Given the description of an element on the screen output the (x, y) to click on. 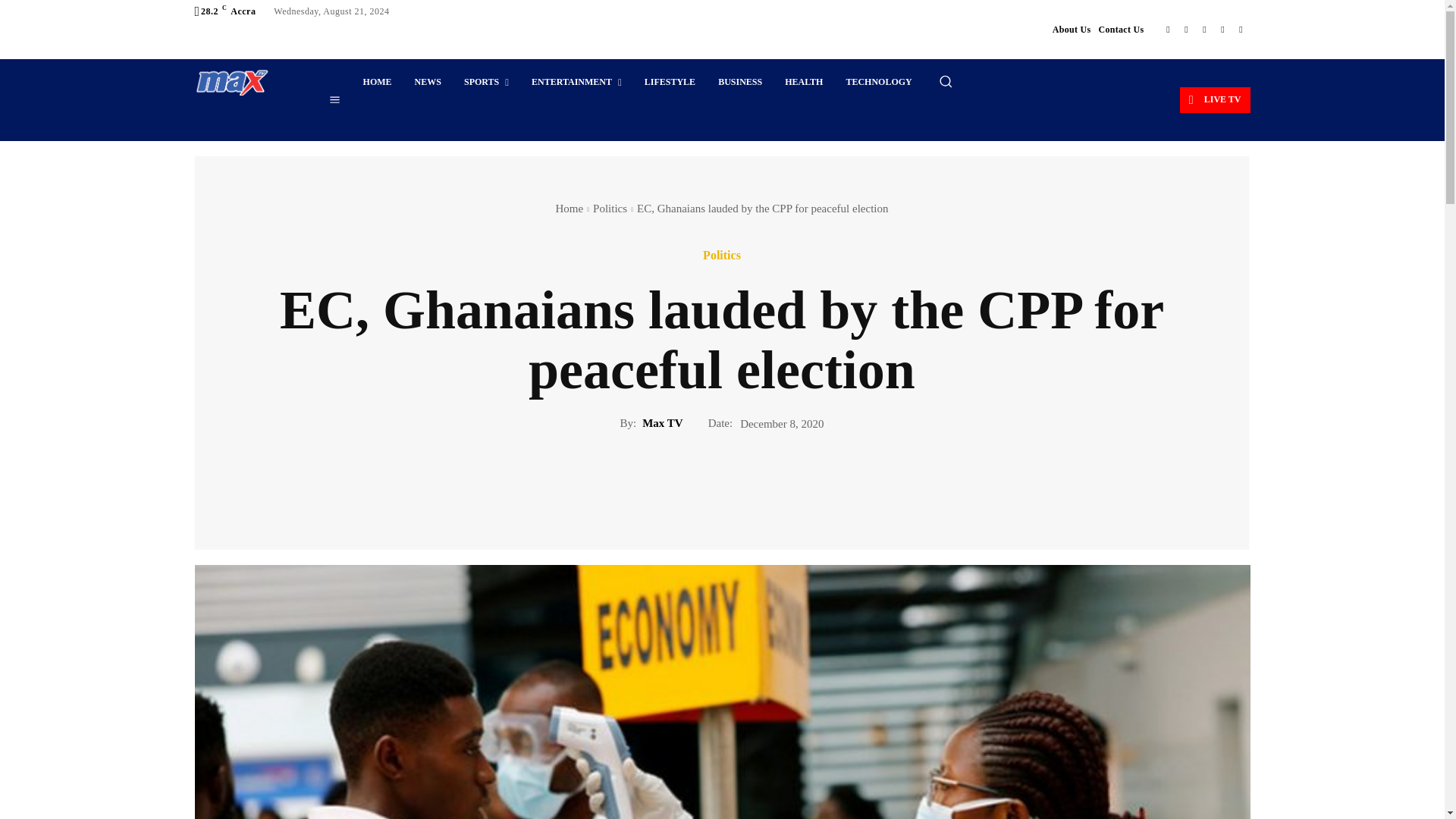
HOME (377, 81)
Facebook (1167, 29)
Contact Us (1119, 29)
About Us (1071, 29)
NEWS (427, 81)
SPORTS (485, 81)
Twitter (1221, 29)
Instagram (1185, 29)
Max (231, 81)
TikTok (1203, 29)
